Given the description of an element on the screen output the (x, y) to click on. 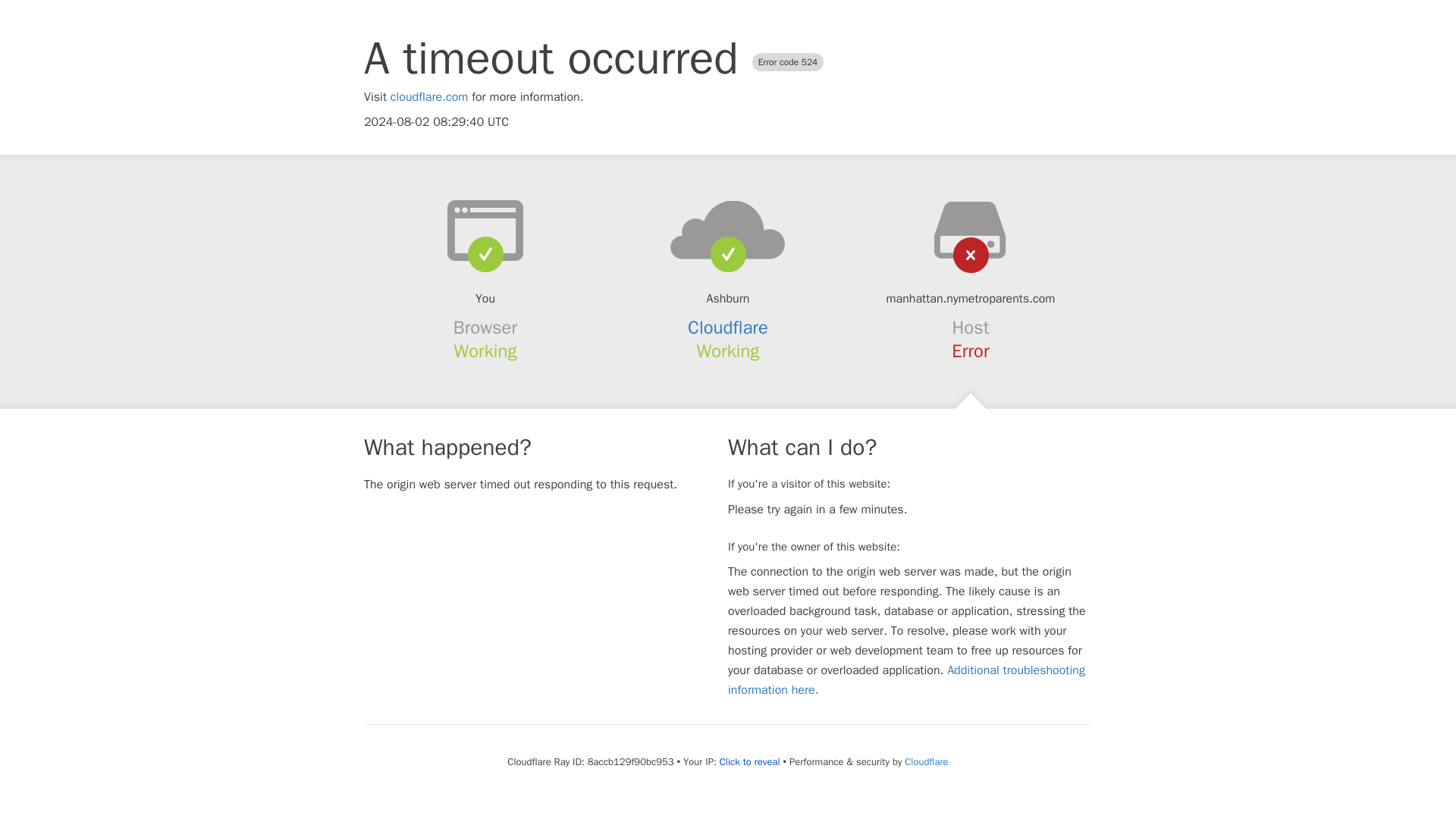
Additional troubleshooting information here. (906, 679)
Cloudflare (727, 327)
Cloudflare (925, 761)
cloudflare.com (429, 96)
Click to reveal (749, 762)
